Given the description of an element on the screen output the (x, y) to click on. 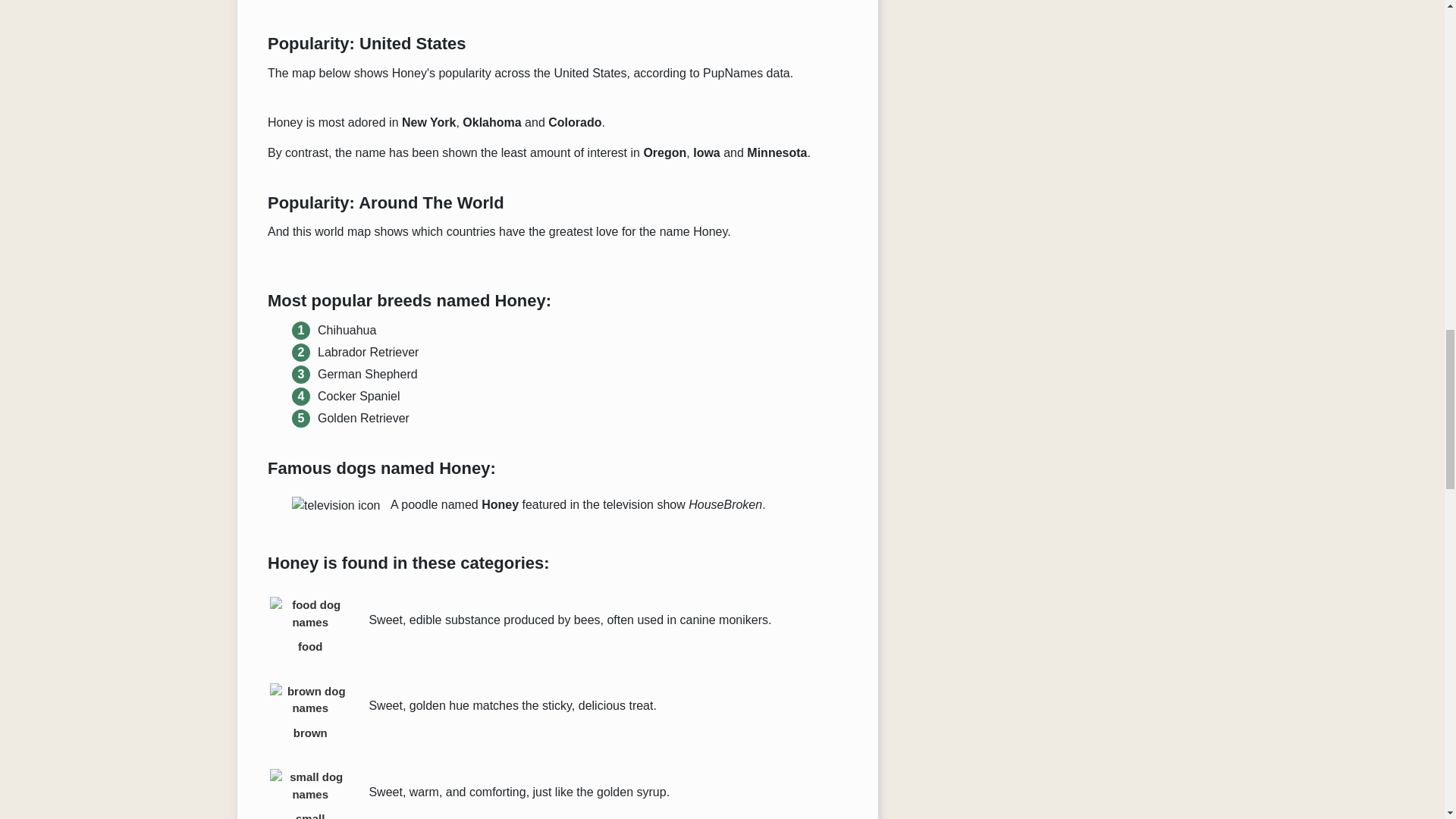
small (309, 788)
food (309, 626)
brown (309, 712)
